Given the description of an element on the screen output the (x, y) to click on. 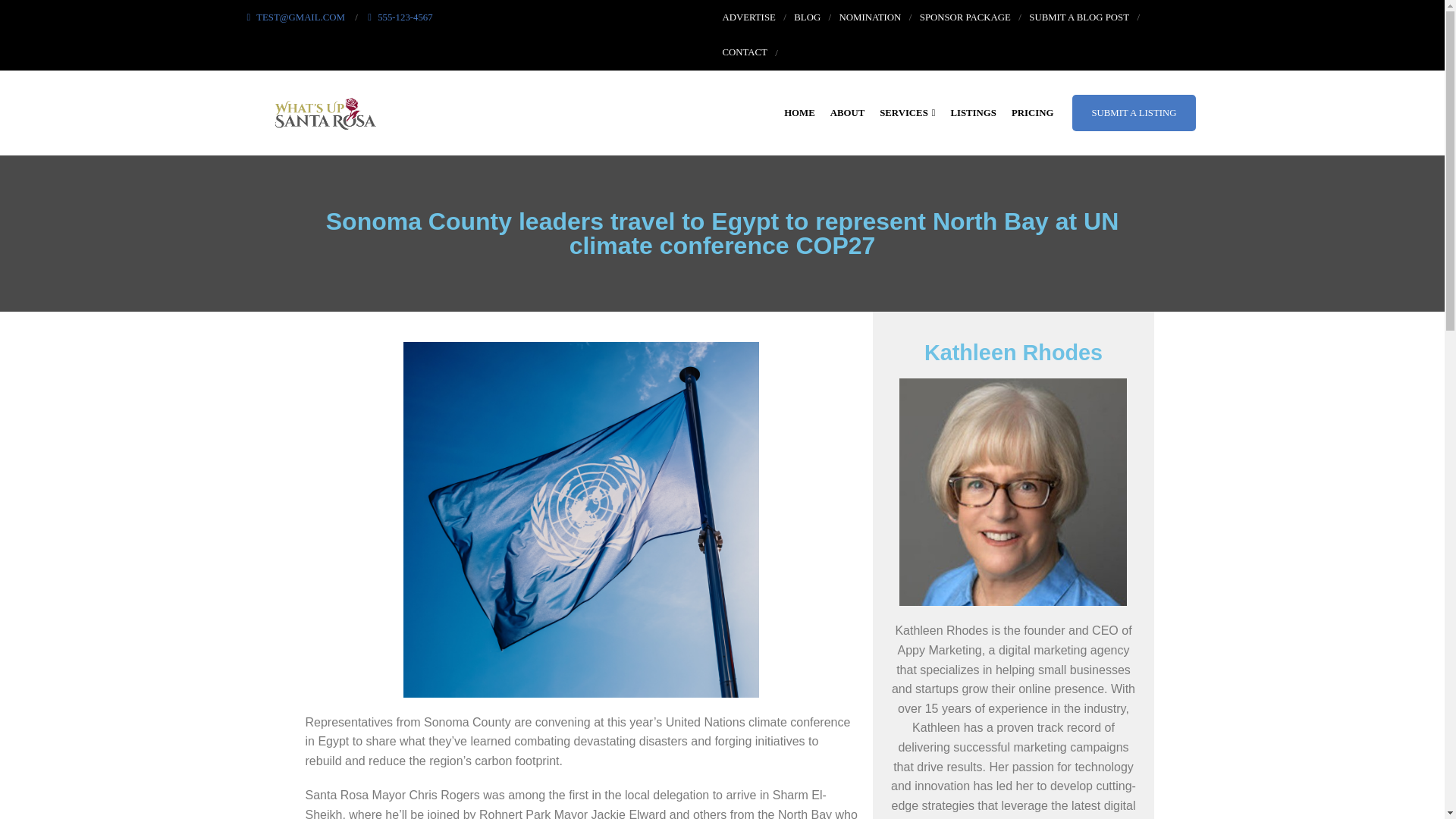
PRICING (1032, 112)
HOME (799, 112)
ADVERTISE (748, 17)
SPONSOR PACKAGE (965, 17)
SUBMIT A LISTING (1133, 113)
SERVICES (907, 112)
